Given the description of an element on the screen output the (x, y) to click on. 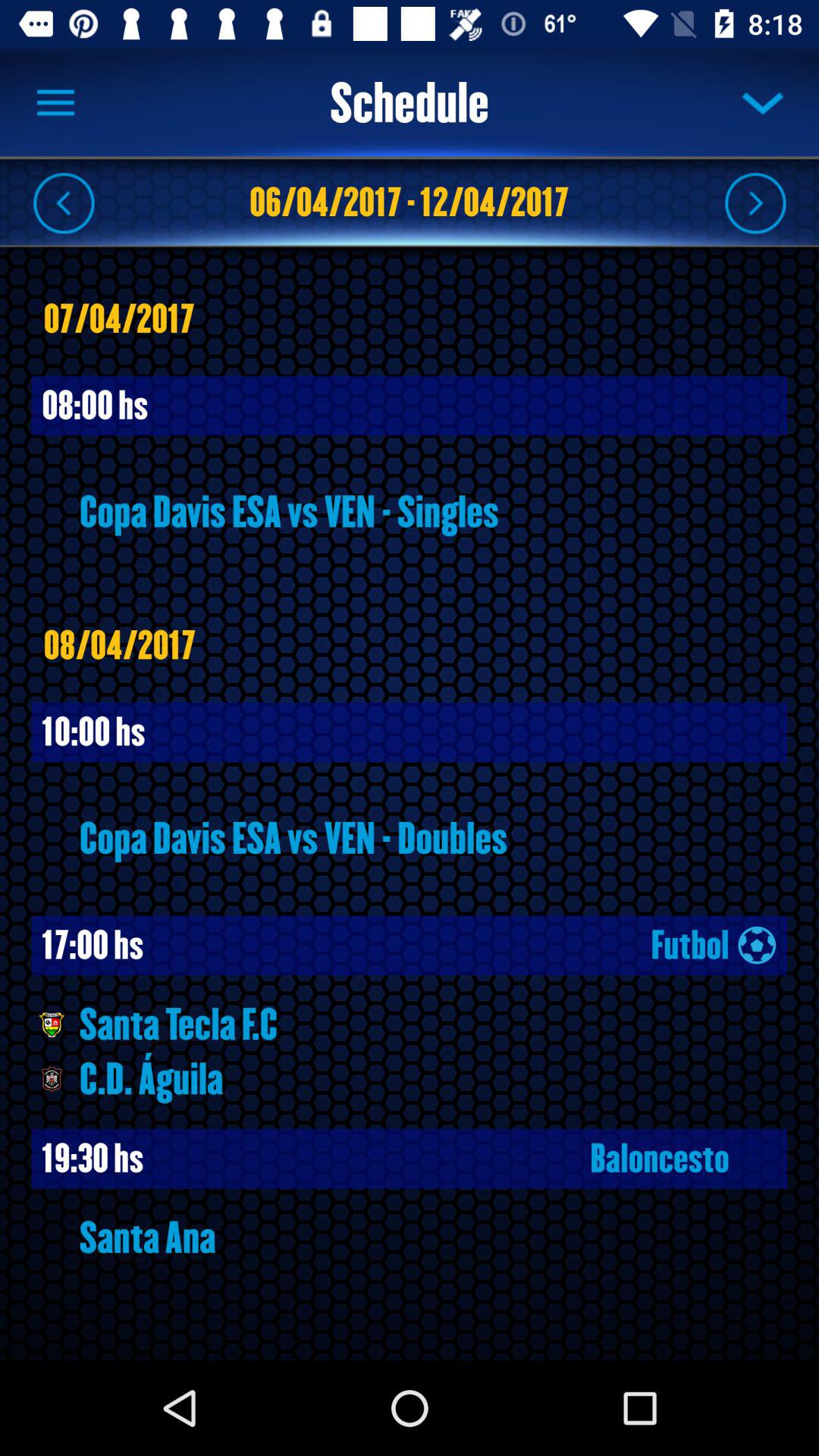
go to previous (63, 202)
